Given the description of an element on the screen output the (x, y) to click on. 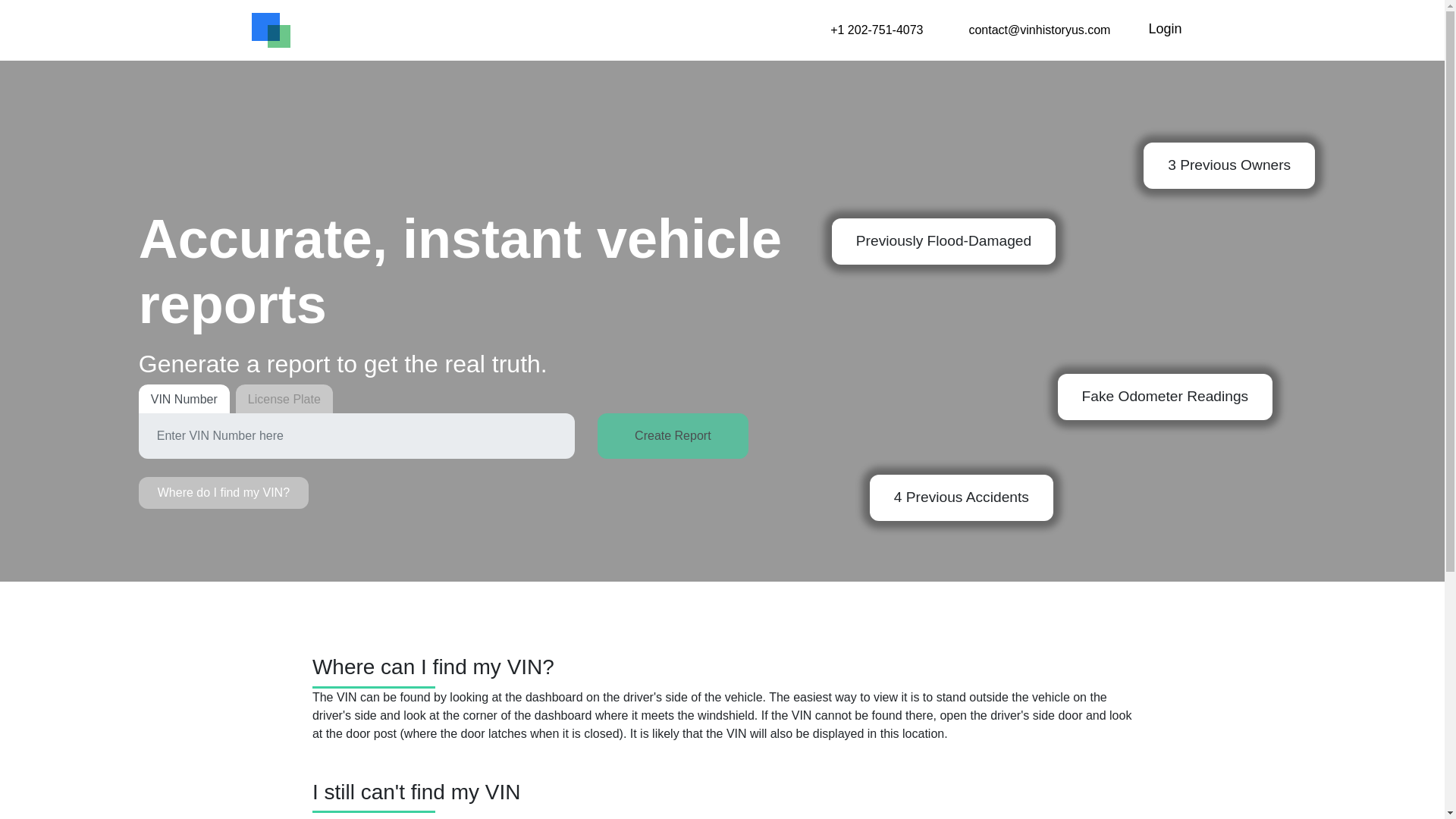
Login (1164, 28)
License Plate (284, 399)
Where do I find my VIN? (223, 492)
VIN Number (184, 399)
Create Report (672, 435)
